Given the description of an element on the screen output the (x, y) to click on. 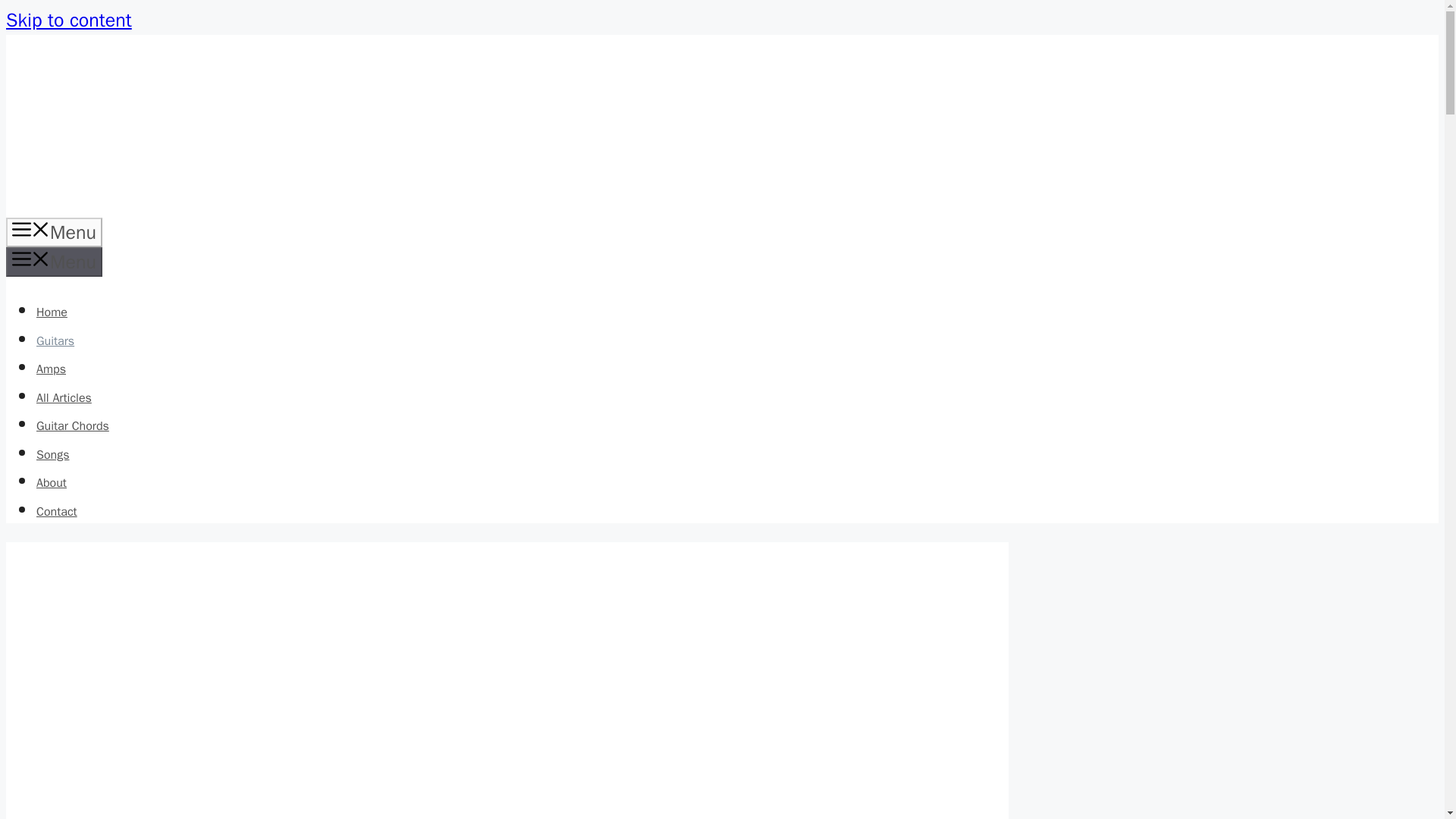
Songs (52, 454)
Menu (53, 261)
Skip to content (68, 19)
Contact (56, 510)
About (51, 482)
Home (51, 312)
Guitars (55, 340)
Skip to content (68, 19)
All Articles (63, 396)
Amps (50, 368)
Guitar Chords (72, 426)
Menu (53, 232)
